Given the description of an element on the screen output the (x, y) to click on. 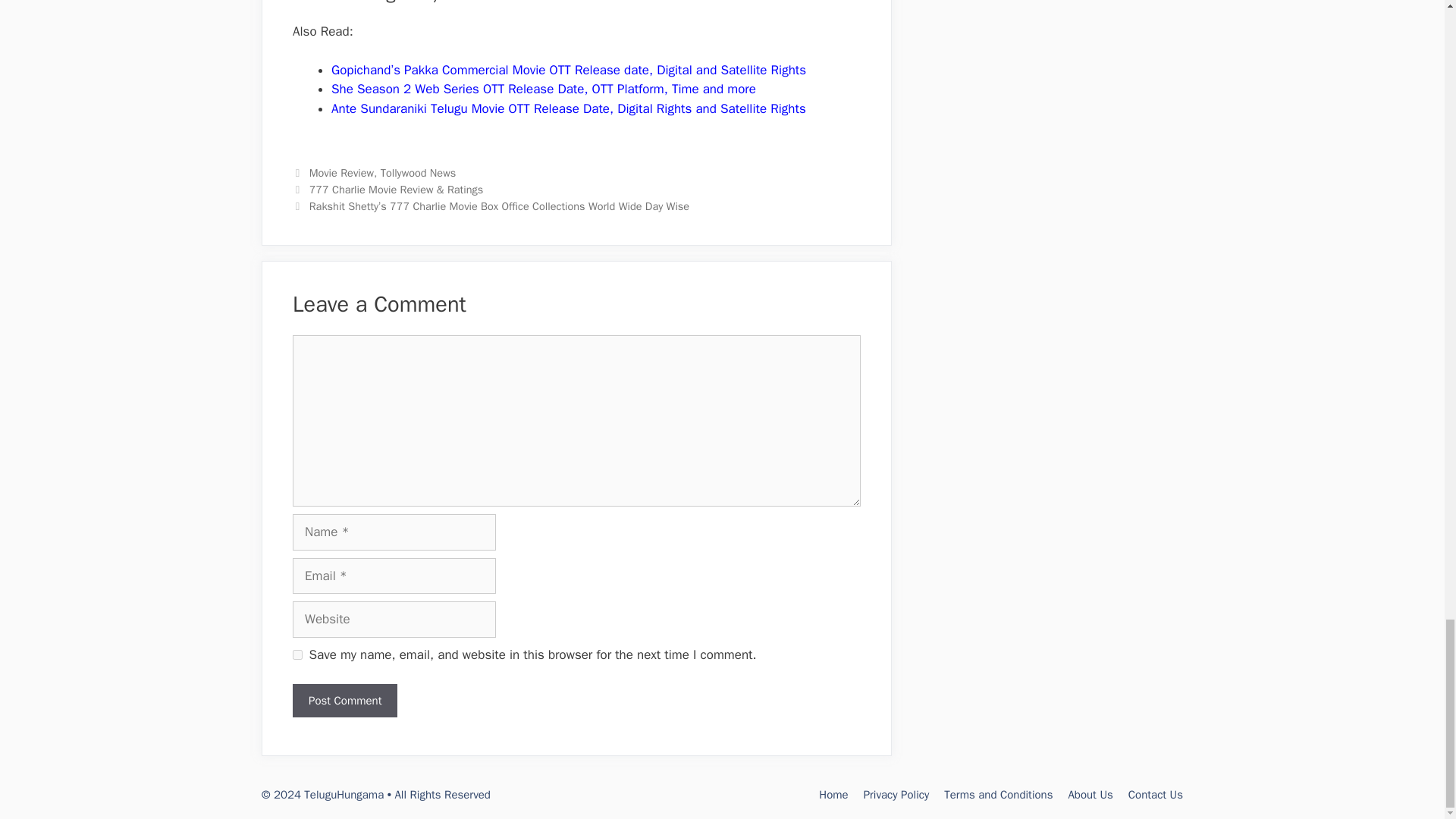
yes (297, 655)
Post Comment (344, 700)
